Given the description of an element on the screen output the (x, y) to click on. 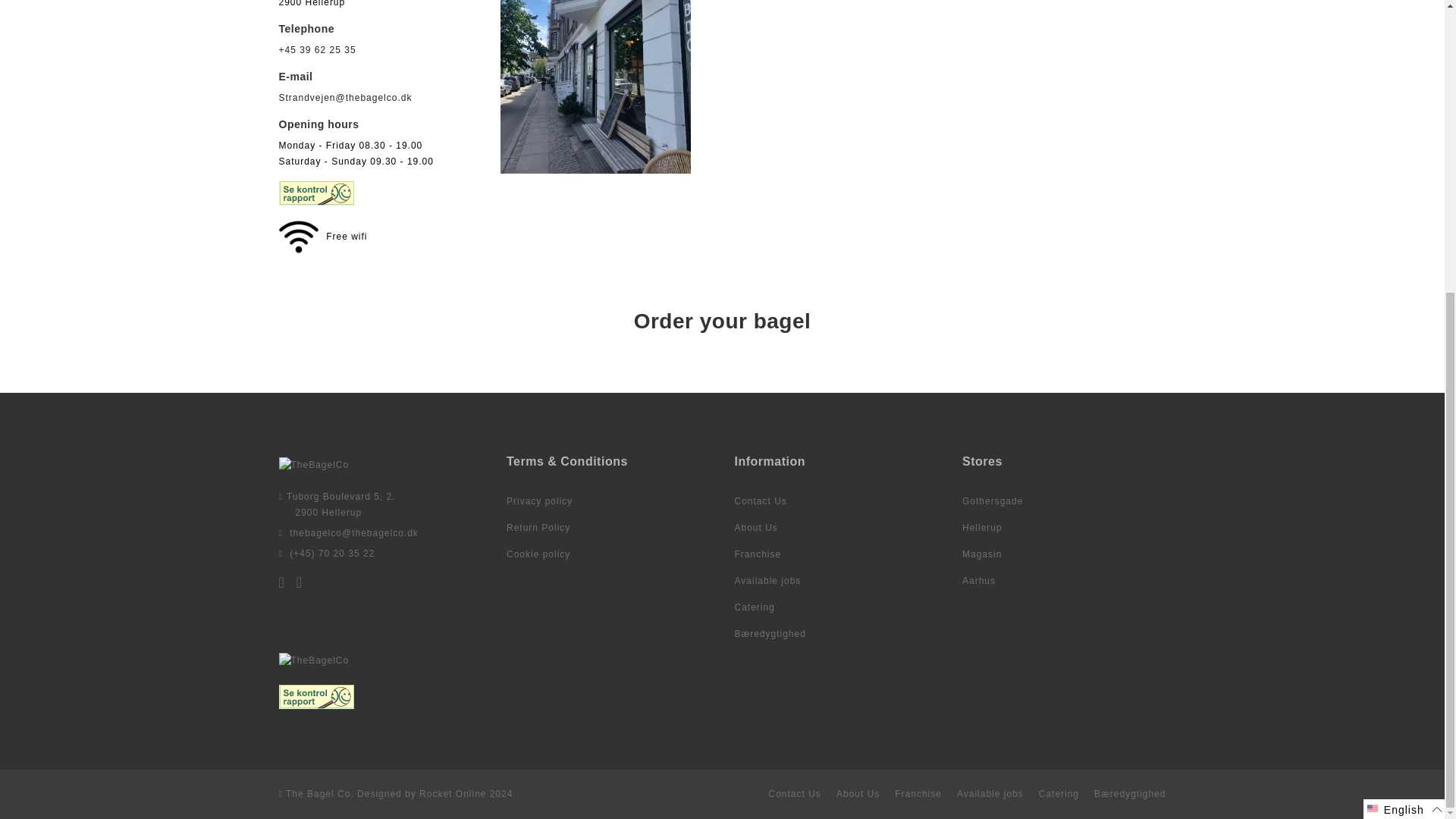
Franchise (756, 553)
Hellerup (982, 527)
Gothersgade (992, 501)
Available jobs (766, 580)
Magasin (981, 553)
Privacy policy (539, 501)
Cookie policy (538, 553)
Return Policy (538, 527)
Catering (753, 606)
Contact Us (759, 501)
About Us (755, 527)
